Given the description of an element on the screen output the (x, y) to click on. 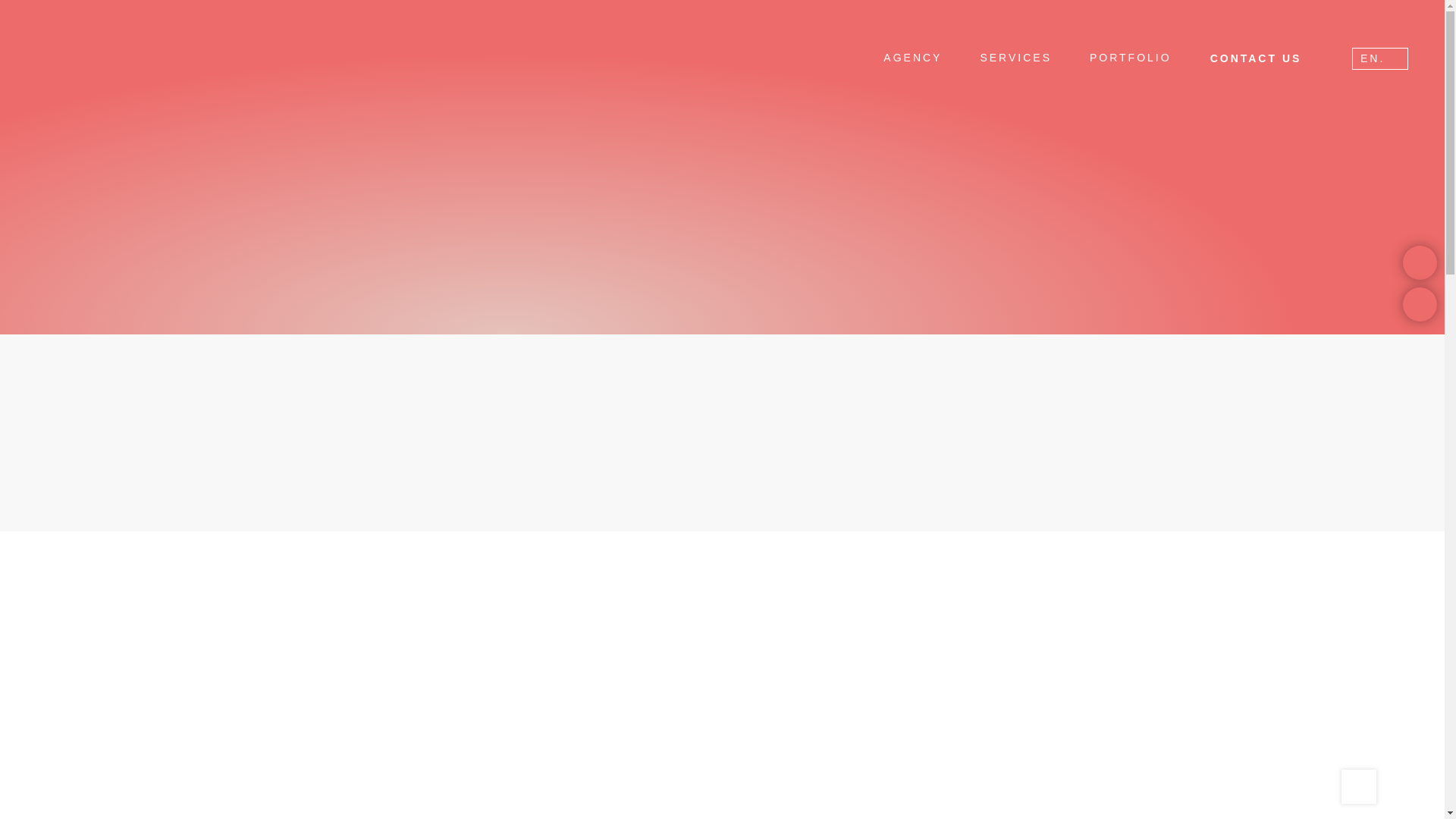
AGENCY (912, 58)
CONTACT US (1256, 58)
SERVICES (1015, 58)
Back to top (1357, 786)
PORTFOLIO (1130, 58)
